Given the description of an element on the screen output the (x, y) to click on. 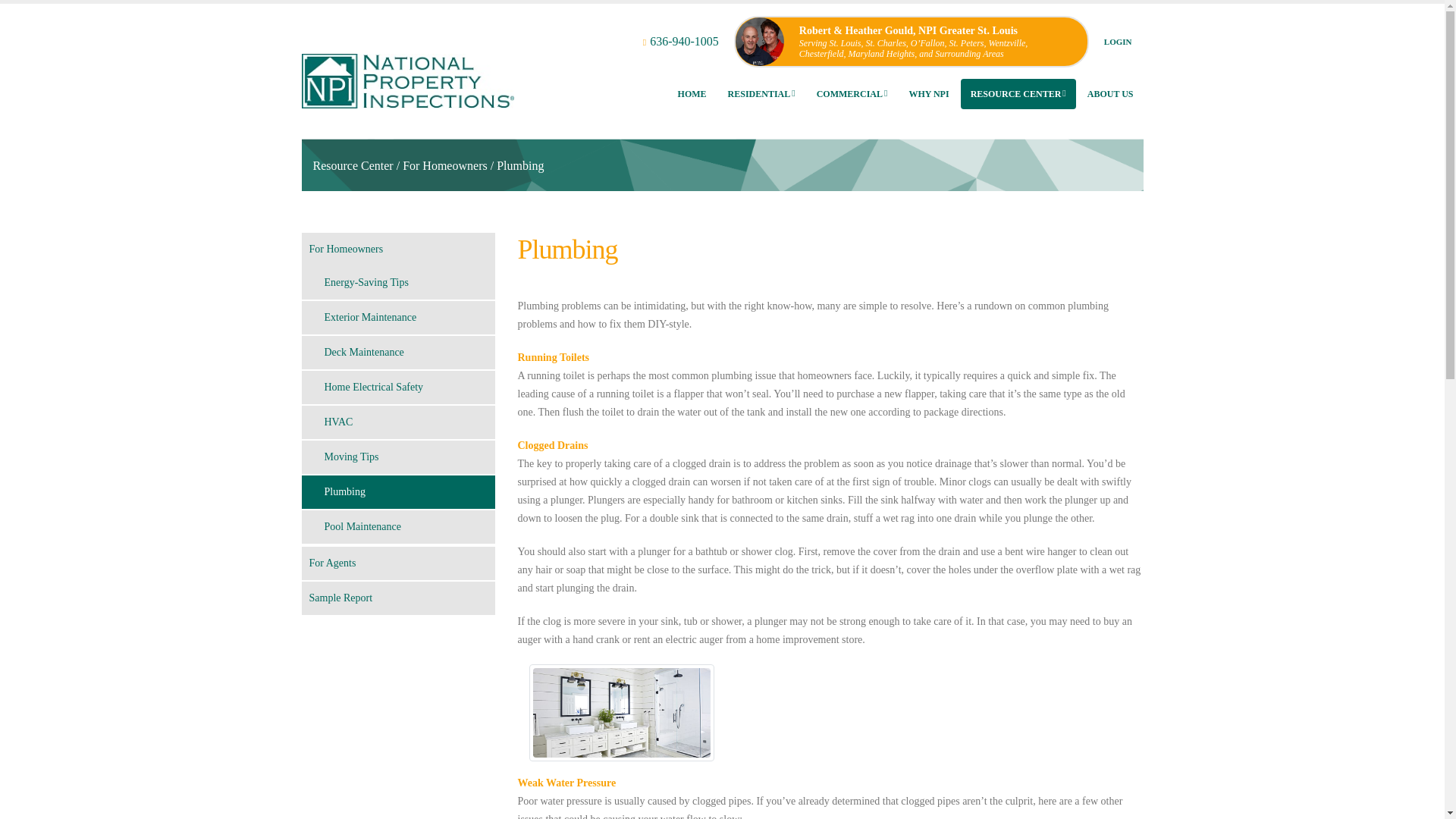
Resource Center (353, 164)
LOGIN (1117, 41)
Robert  Gould (407, 61)
RESOURCE CENTER (1017, 93)
RESIDENTIAL (761, 93)
COMMERCIAL (852, 93)
HOME (692, 93)
WHY NPI (928, 93)
636-940-1005 (691, 41)
For Homeowners (445, 164)
ABOUT US (1109, 93)
Plumbing (519, 164)
